Given the description of an element on the screen output the (x, y) to click on. 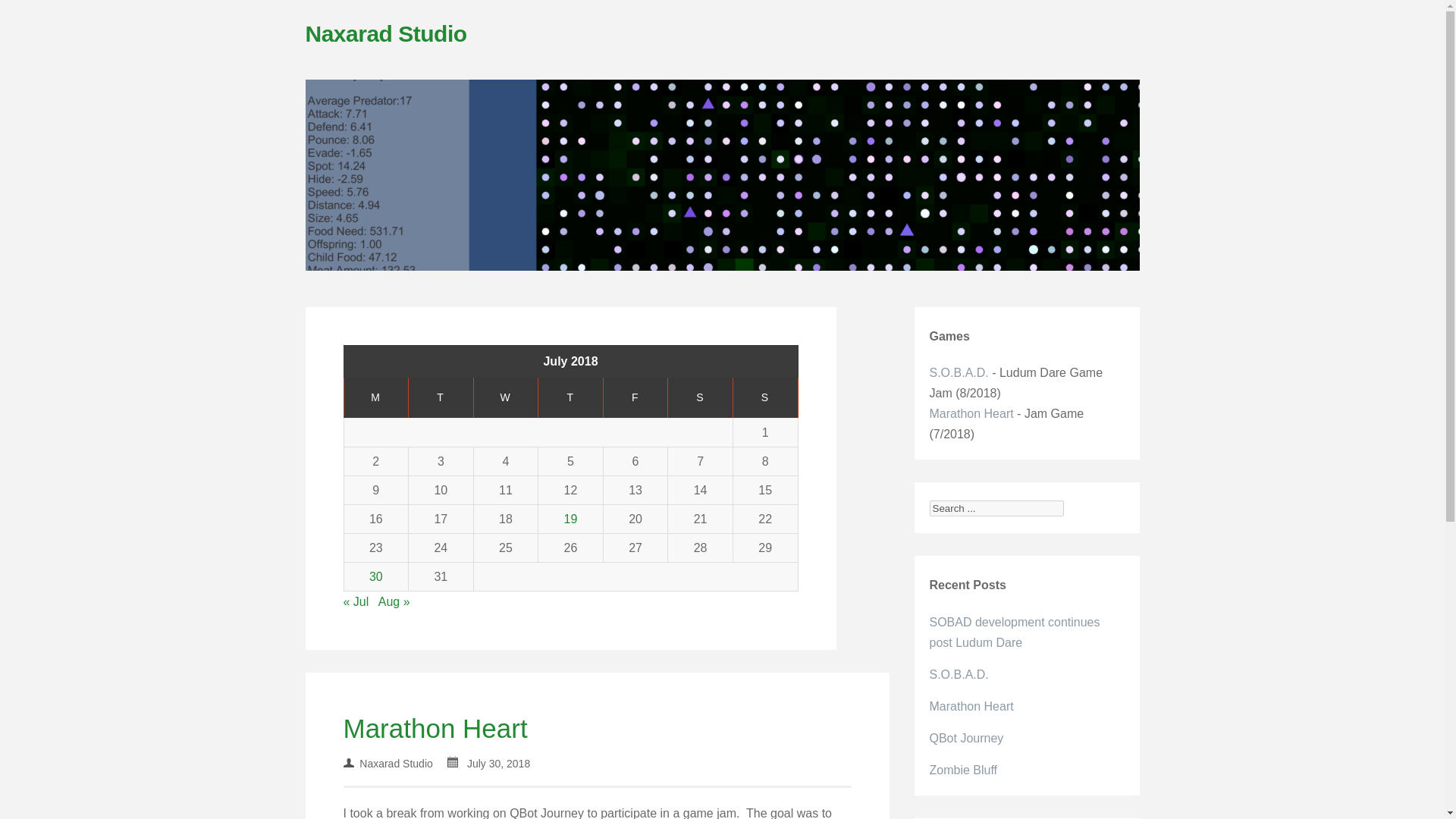
19 (571, 518)
Search ... (997, 508)
Friday (635, 397)
Search ... (997, 508)
Wednesday (505, 397)
QBot Journey (967, 738)
S.O.B.A.D. (959, 372)
Naxarad Studio (384, 33)
Marathon Heart (434, 727)
Thursday (571, 397)
